Given the description of an element on the screen output the (x, y) to click on. 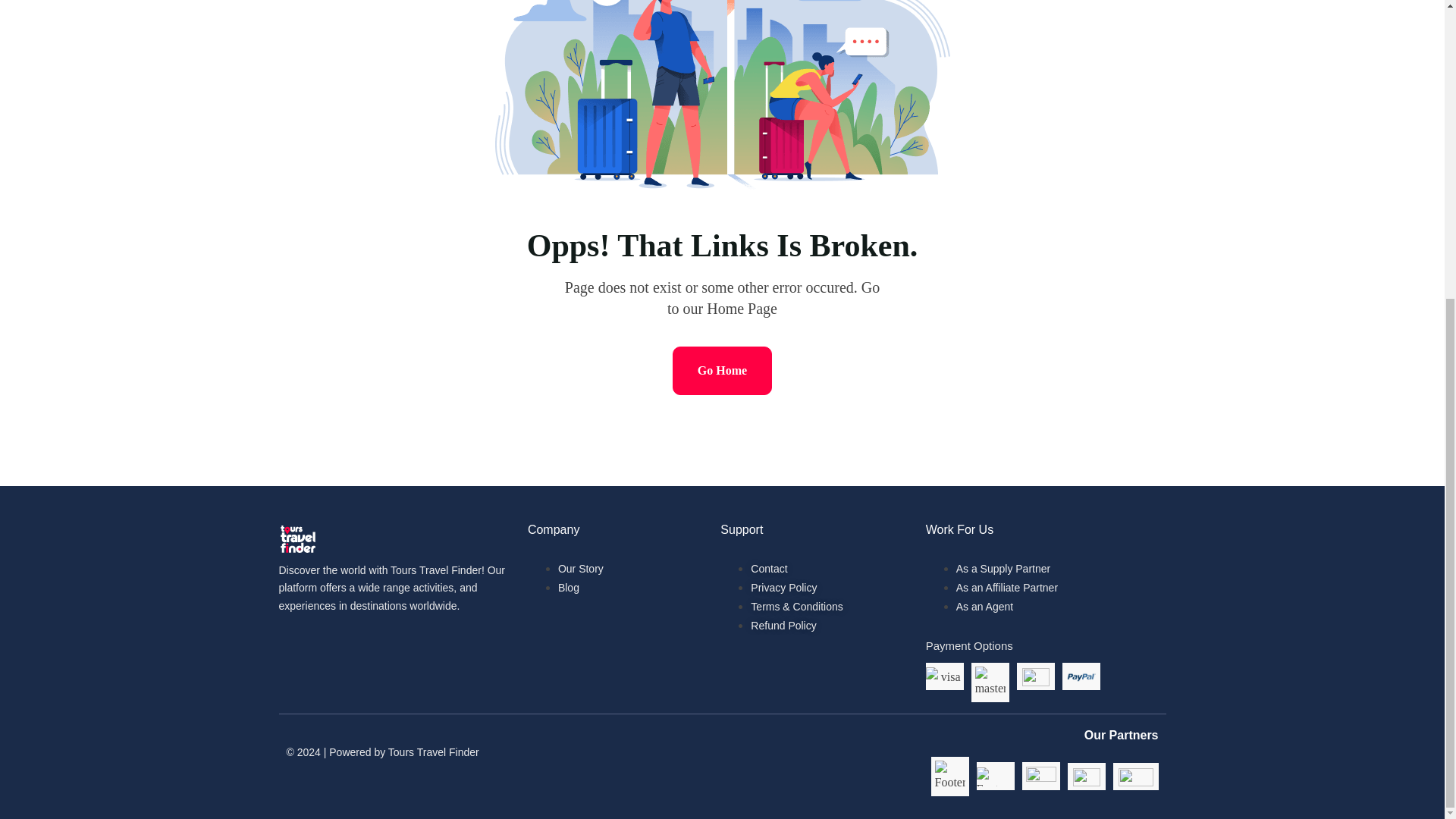
Contact (769, 568)
Blog (568, 587)
Refund Policy (783, 625)
Our Story (580, 568)
Go Home (721, 370)
Privacy Policy (783, 587)
